Given the description of an element on the screen output the (x, y) to click on. 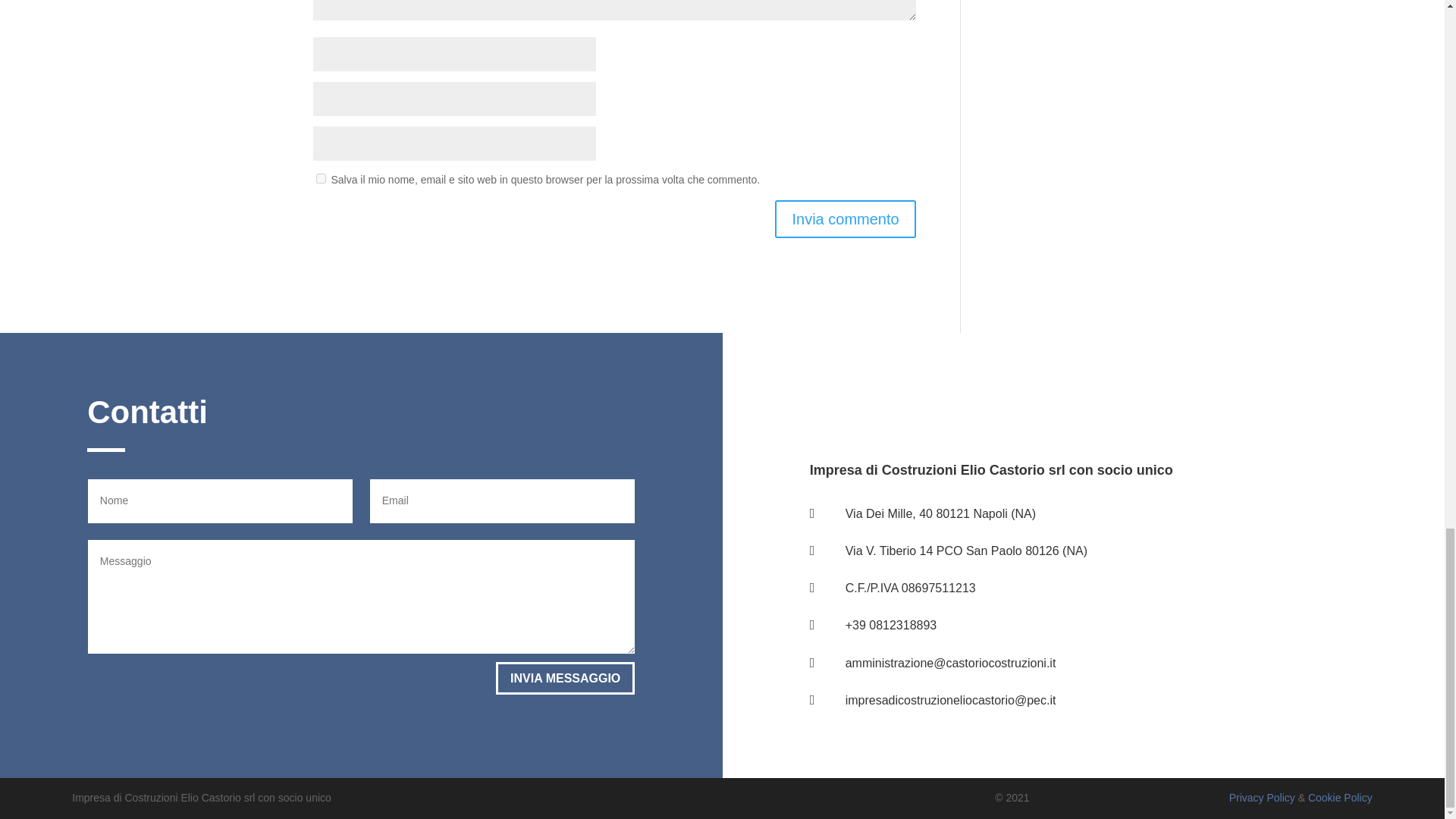
Cookie Policy (1340, 797)
Privacy Policy (1261, 797)
Invia commento (844, 218)
Invia commento (844, 218)
yes (319, 178)
INVIA MESSAGGIO (565, 677)
